Given the description of an element on the screen output the (x, y) to click on. 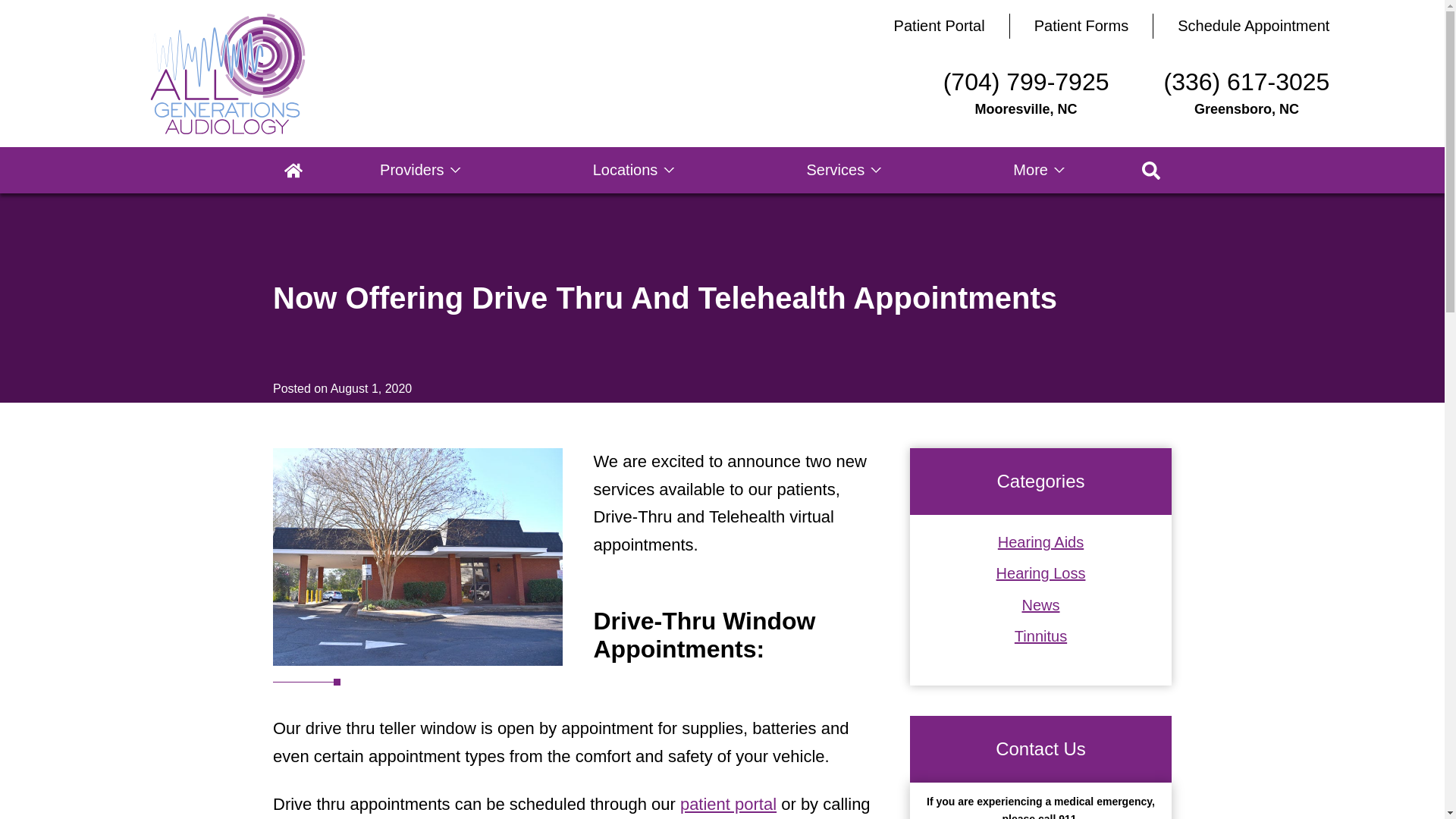
Schedule Appointment (1253, 24)
Patient Portal (939, 24)
Home (293, 170)
Patient Forms (1080, 24)
